Given the description of an element on the screen output the (x, y) to click on. 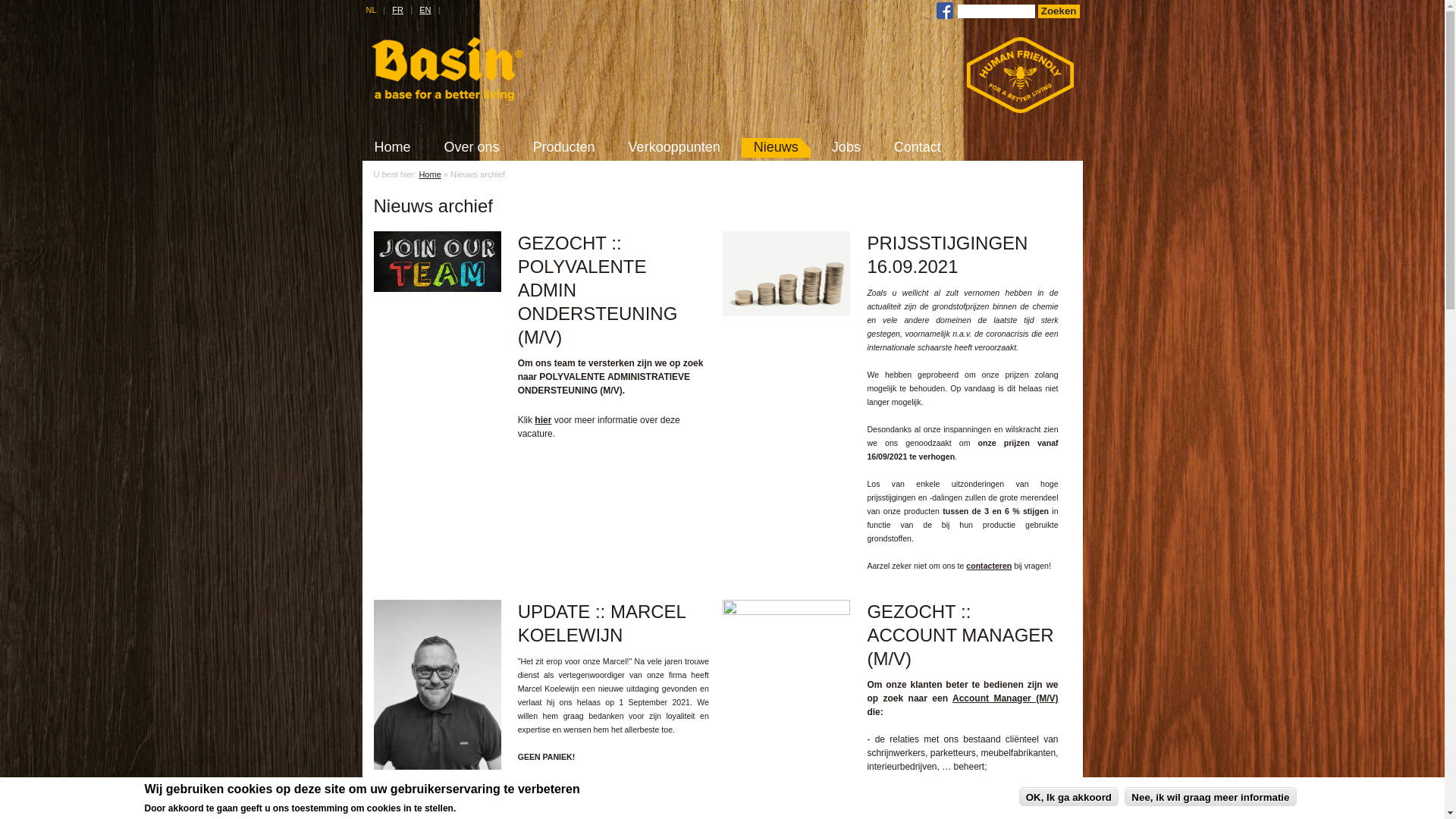
GEZOCHT :: ACCOUNT MANAGER (M/V) Element type: hover (786, 611)
facebook Element type: hover (944, 10)
hier Element type: text (542, 419)
Home Element type: text (392, 146)
UPDATE :: MARCEL KOELEWIJN Element type: hover (436, 766)
Contact Element type: text (917, 146)
Jobs Element type: text (845, 146)
Facebook Element type: hover (944, 15)
Zoeken Element type: text (1058, 11)
Home Element type: hover (447, 97)
EN Element type: text (424, 9)
PRIJSSTIJGINGEN 16.09.2021 Element type: hover (786, 312)
Producten Element type: text (564, 146)
GEZOCHT :: POLYVALENTE ADMIN ONDERSTEUNING (M/V) Element type: hover (436, 288)
Nieuws Element type: text (775, 146)
Account Manager (M/V) Element type: text (1005, 698)
FR Element type: text (397, 9)
Nee, ik wil graag meer informatie Element type: text (1209, 796)
Verkooppunten Element type: text (674, 146)
Home Element type: text (429, 173)
Geef de woorden op waarnaar u wilt zoeken. Element type: hover (996, 11)
contacteren Element type: text (988, 565)
OK, Ik ga akkoord Element type: text (1068, 796)
Over ons Element type: text (471, 146)
